Given the description of an element on the screen output the (x, y) to click on. 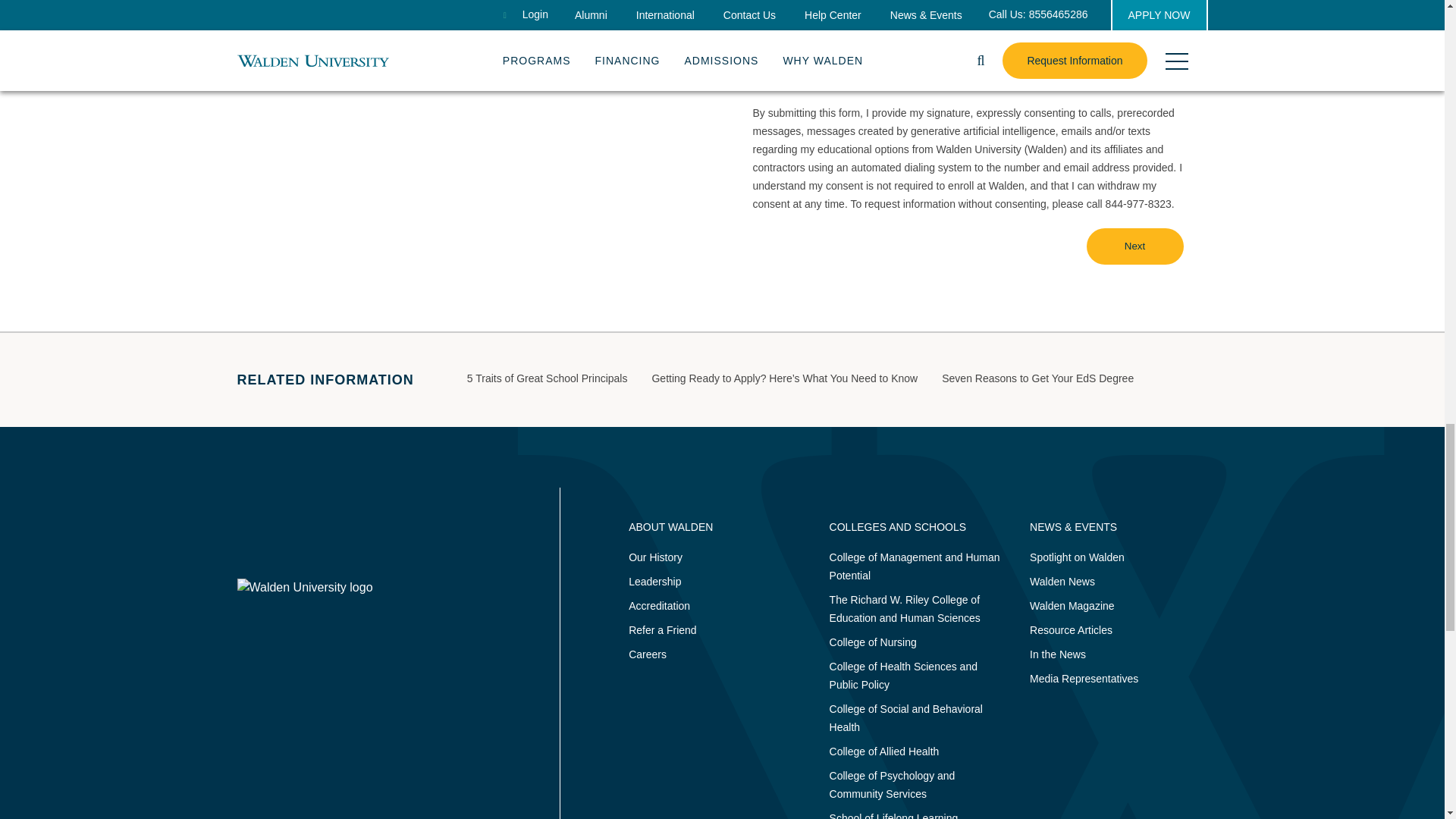
Next (1134, 246)
